Given the description of an element on the screen output the (x, y) to click on. 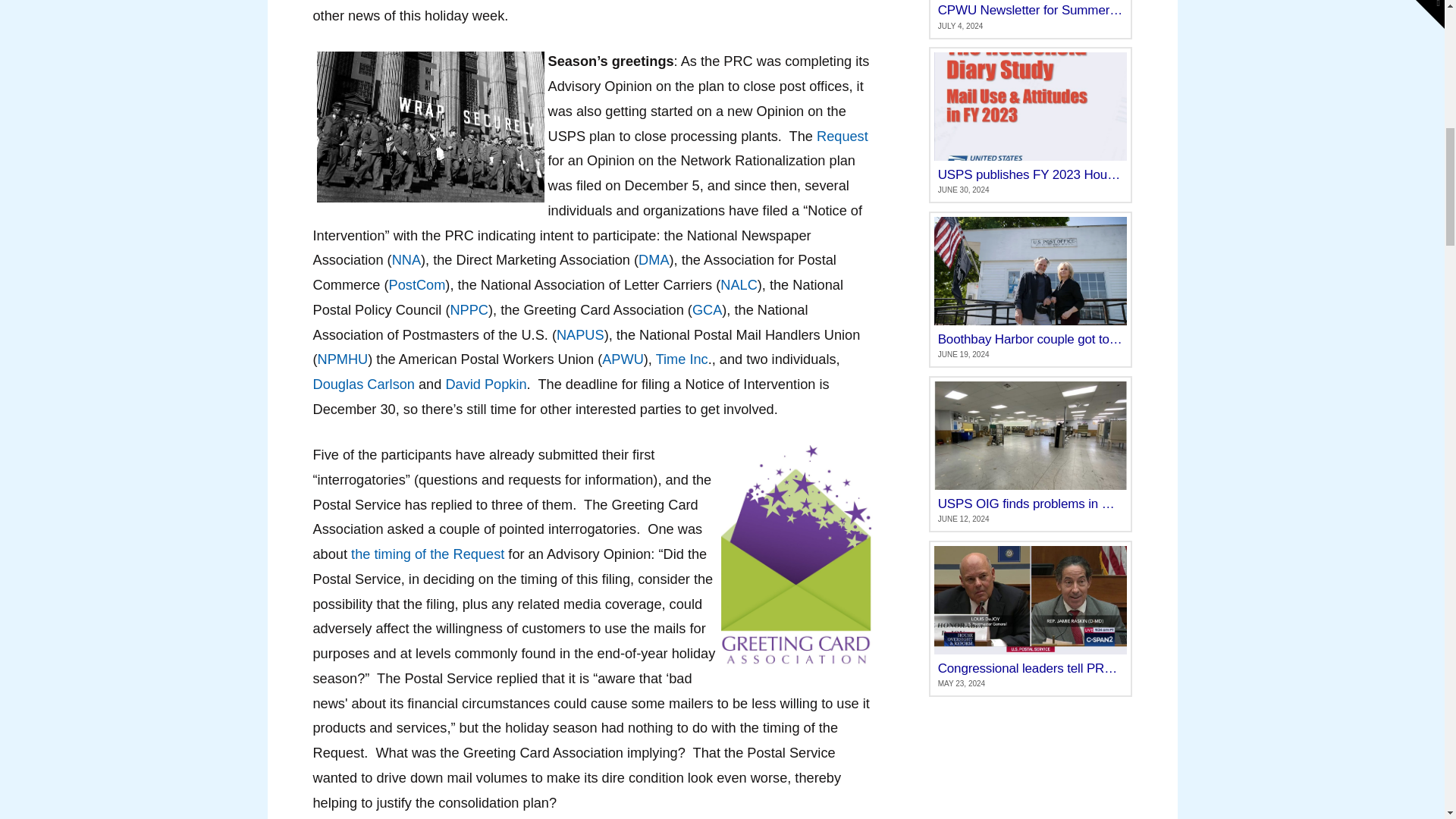
DMA (653, 259)
Time Inc (681, 359)
the timing of the Request (426, 554)
NPPC (468, 309)
Douglas Carlson (363, 384)
David Popkin (485, 384)
GCA (707, 309)
APWU (622, 359)
NAPUS (580, 335)
Permalink to: "CPWU Newsletter for Summer 2024" (1030, 19)
NPMHU (342, 359)
NNA (405, 259)
NALC (738, 284)
